Given the description of an element on the screen output the (x, y) to click on. 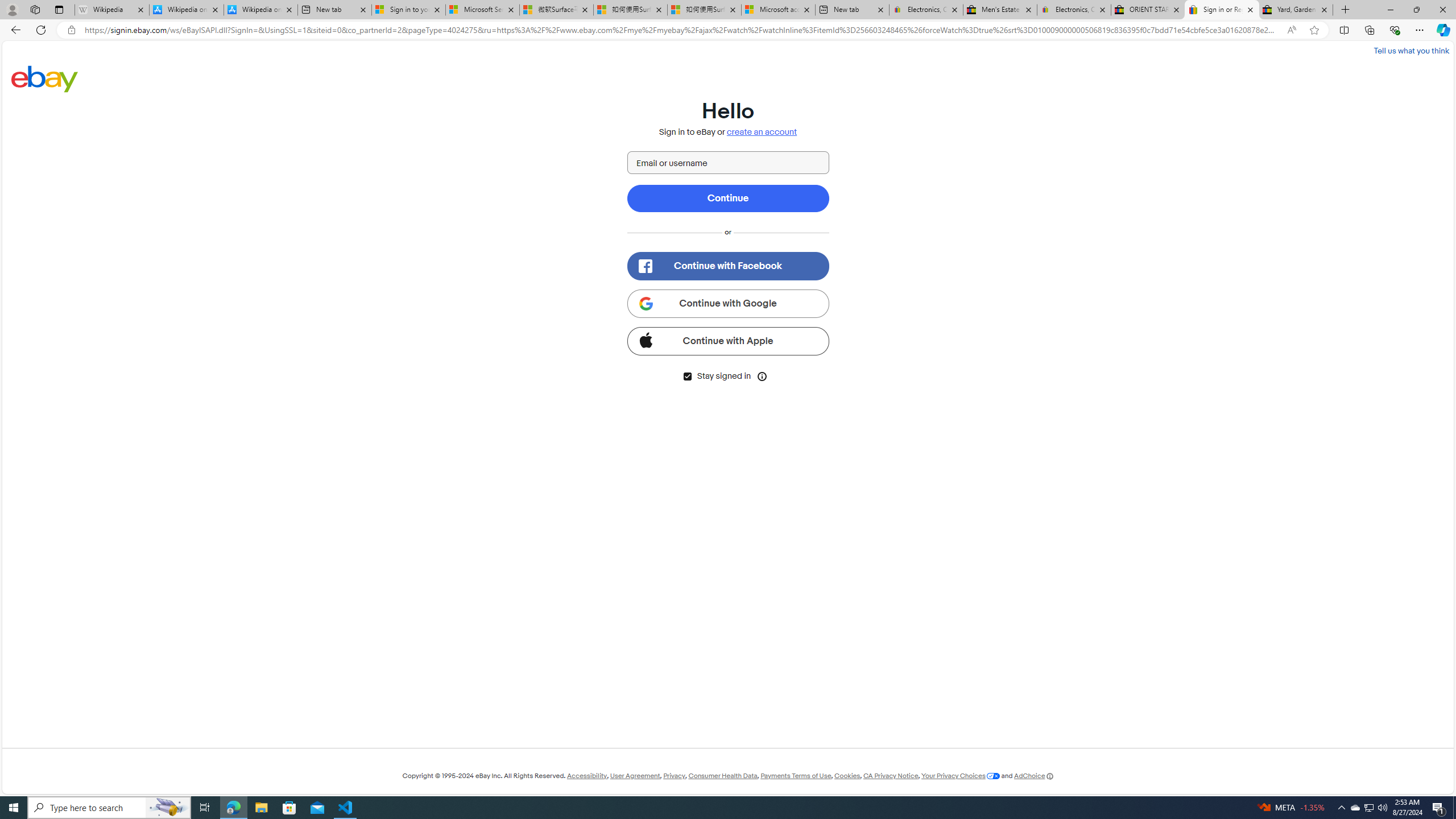
Payments Terms of Use (795, 775)
Class: icon-btn tooltip__host icon-btn--transparent (762, 375)
Continue with Google (727, 303)
Class: apple-icon (645, 339)
User Agreement (635, 775)
Accessibility (586, 775)
Consumer Health Data (722, 775)
